Given the description of an element on the screen output the (x, y) to click on. 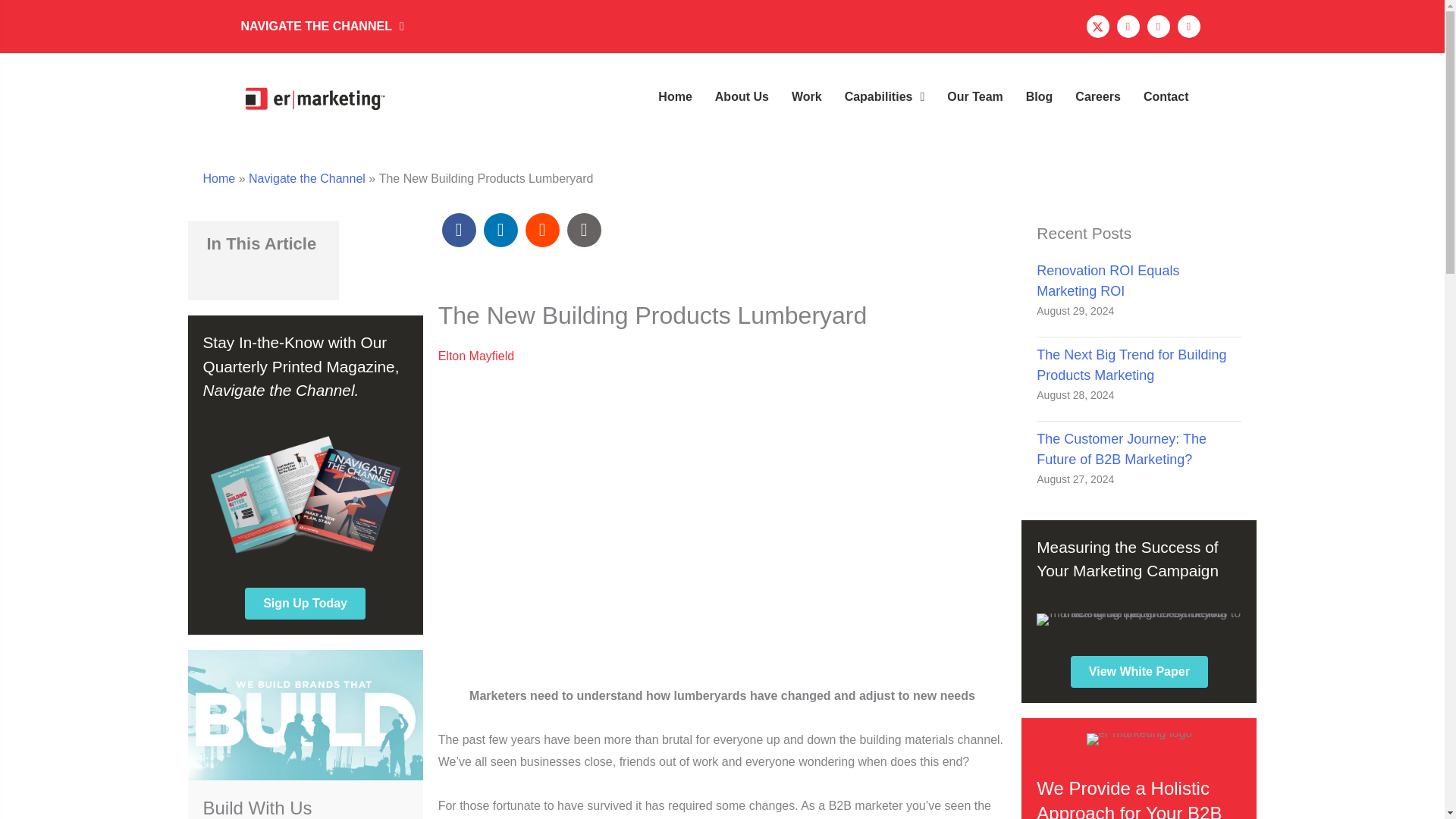
Facebook (1158, 26)
Work (806, 96)
Blog (1039, 96)
The Next Big Trend for Building Products Marketing (1130, 365)
Renovation ROI Equals Marketing ROI (1107, 280)
Instagram (1127, 26)
Capabilities (885, 96)
Home (674, 96)
WBBTB (305, 714)
Our Team (974, 96)
